Given the description of an element on the screen output the (x, y) to click on. 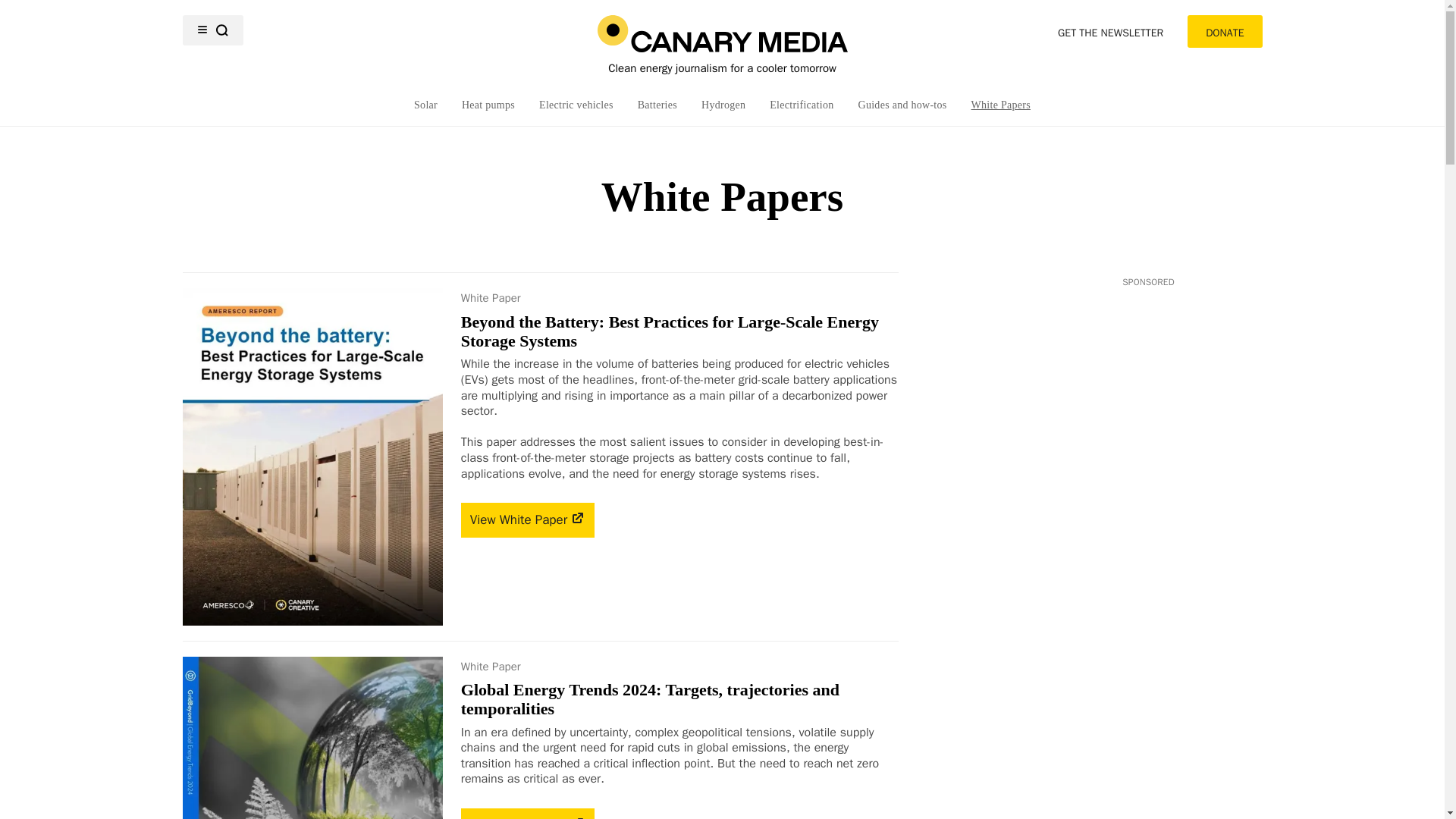
Solar (425, 105)
White Papers (1000, 105)
Electrification (801, 105)
Guides and how-tos (903, 105)
Batteries (657, 105)
Heat pumps (488, 105)
DONATE (1225, 31)
Hydrogen (723, 105)
Electric vehicles (575, 105)
GET THE NEWSLETTER (1109, 31)
